Given the description of an element on the screen output the (x, y) to click on. 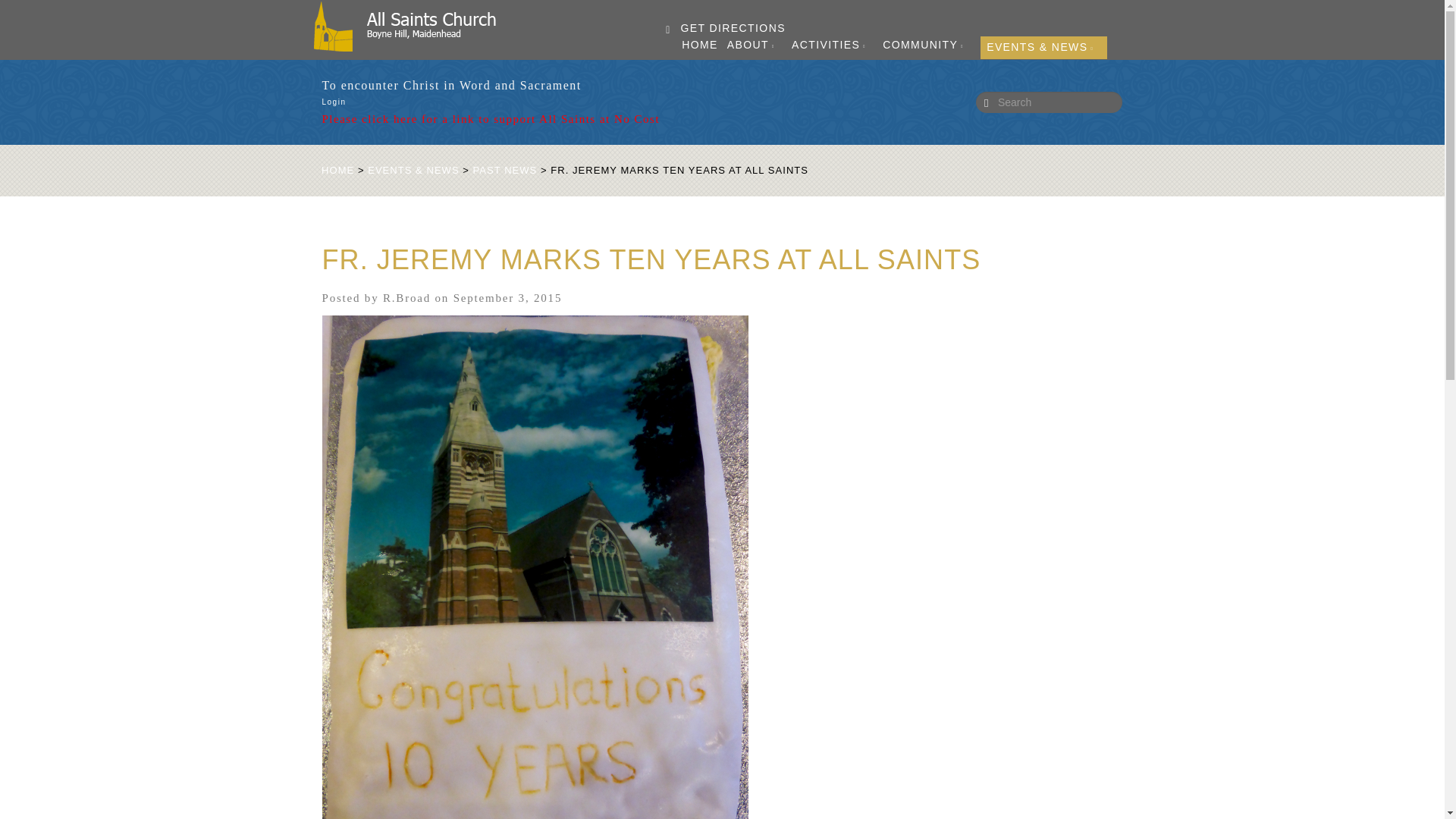
ABOUT (754, 45)
HOME (699, 44)
GET DIRECTIONS (725, 27)
Support All Saints at No Cost (490, 119)
